Given the description of an element on the screen output the (x, y) to click on. 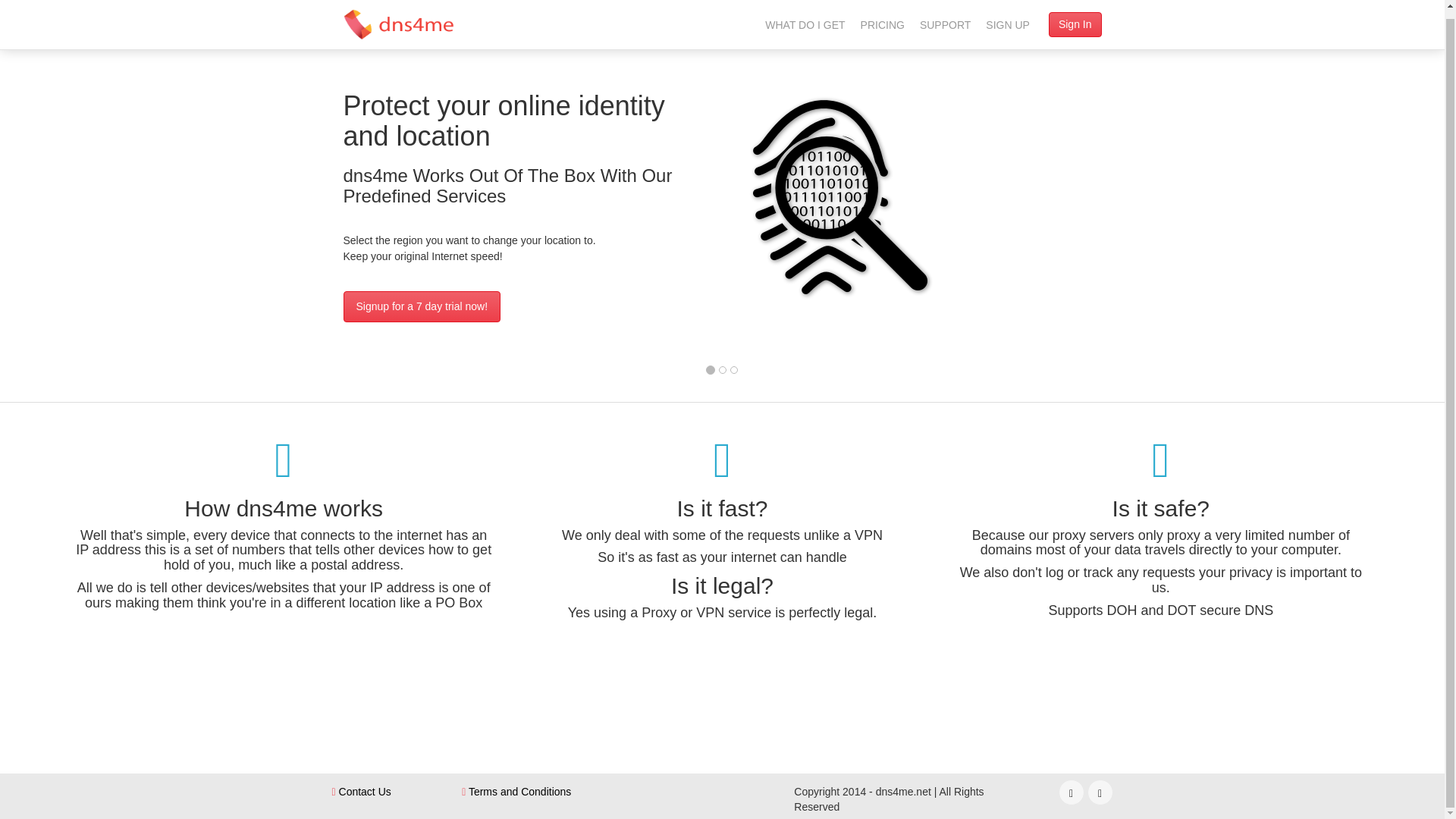
Contact Us (361, 791)
Sign In (1075, 17)
WHAT DO I GET (804, 20)
Terms and Conditions (515, 791)
PRICING (882, 20)
SUPPORT (945, 20)
SIGN UP (1007, 20)
